Given the description of an element on the screen output the (x, y) to click on. 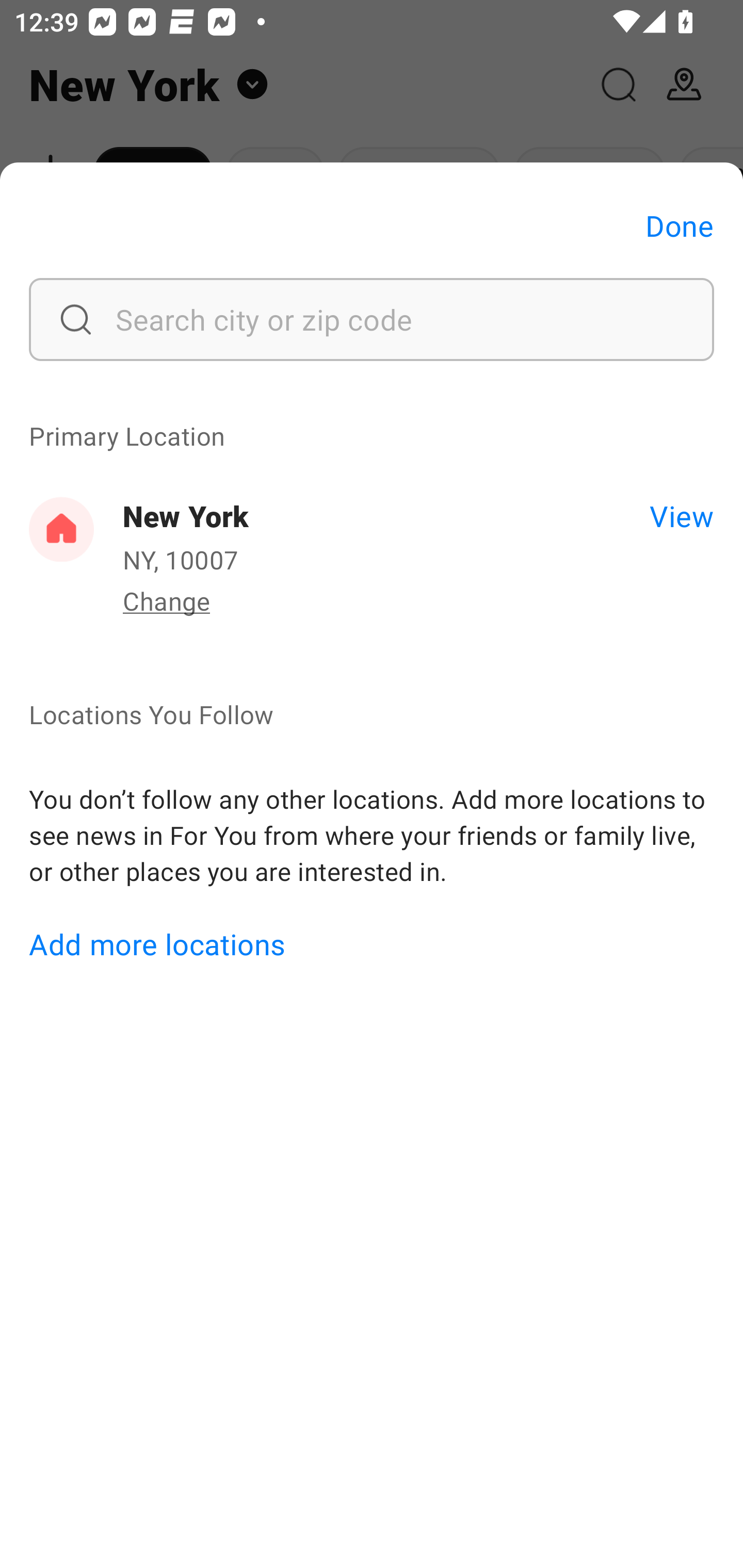
Done (679, 225)
Search city or zip code (371, 318)
View (681, 514)
Change (166, 600)
